Given the description of an element on the screen output the (x, y) to click on. 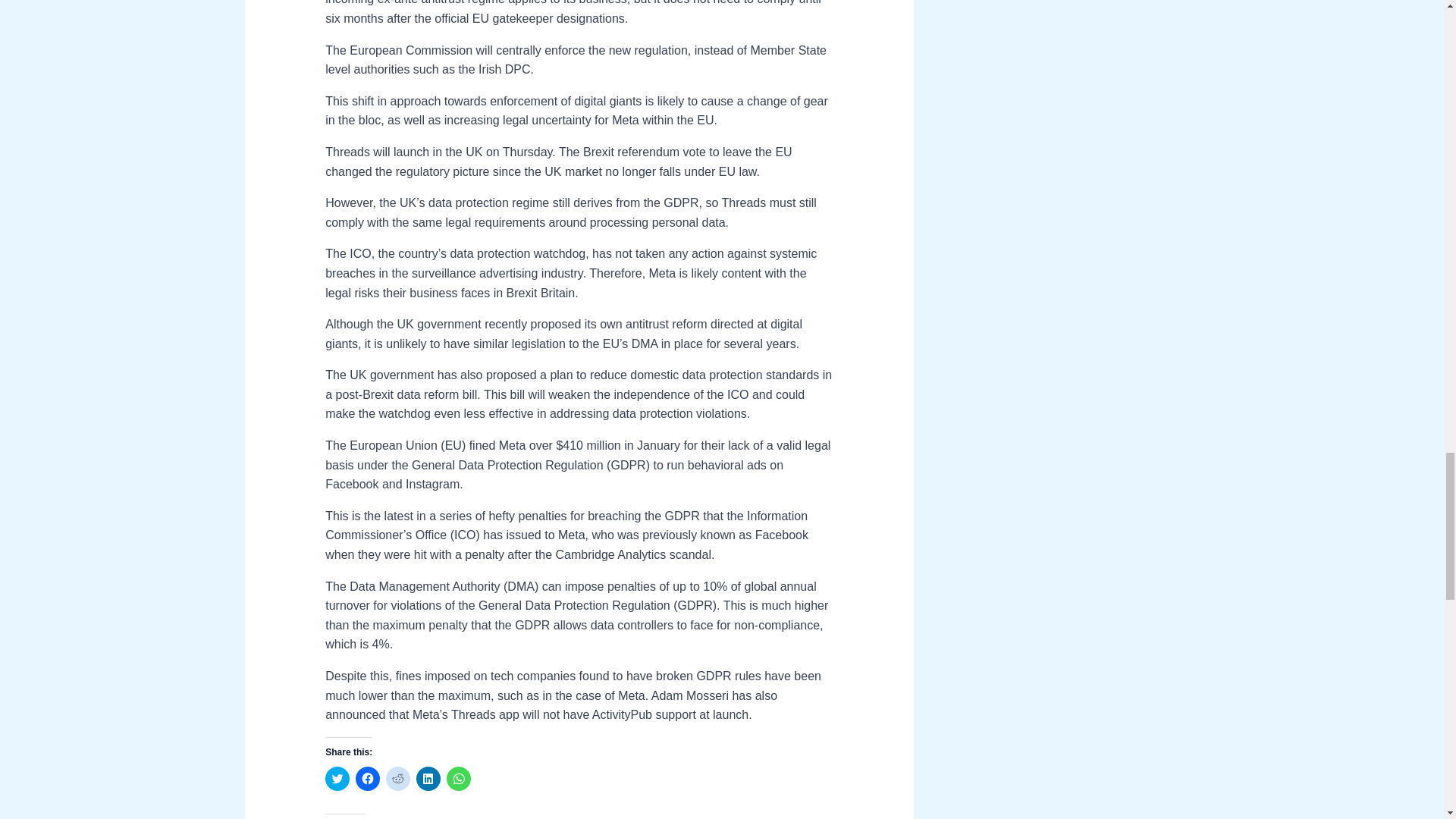
Click to share on LinkedIn (428, 778)
Click to share on Facebook (367, 778)
Click to share on WhatsApp (458, 778)
Click to share on Twitter (336, 778)
Click to share on Reddit (397, 778)
